Given the description of an element on the screen output the (x, y) to click on. 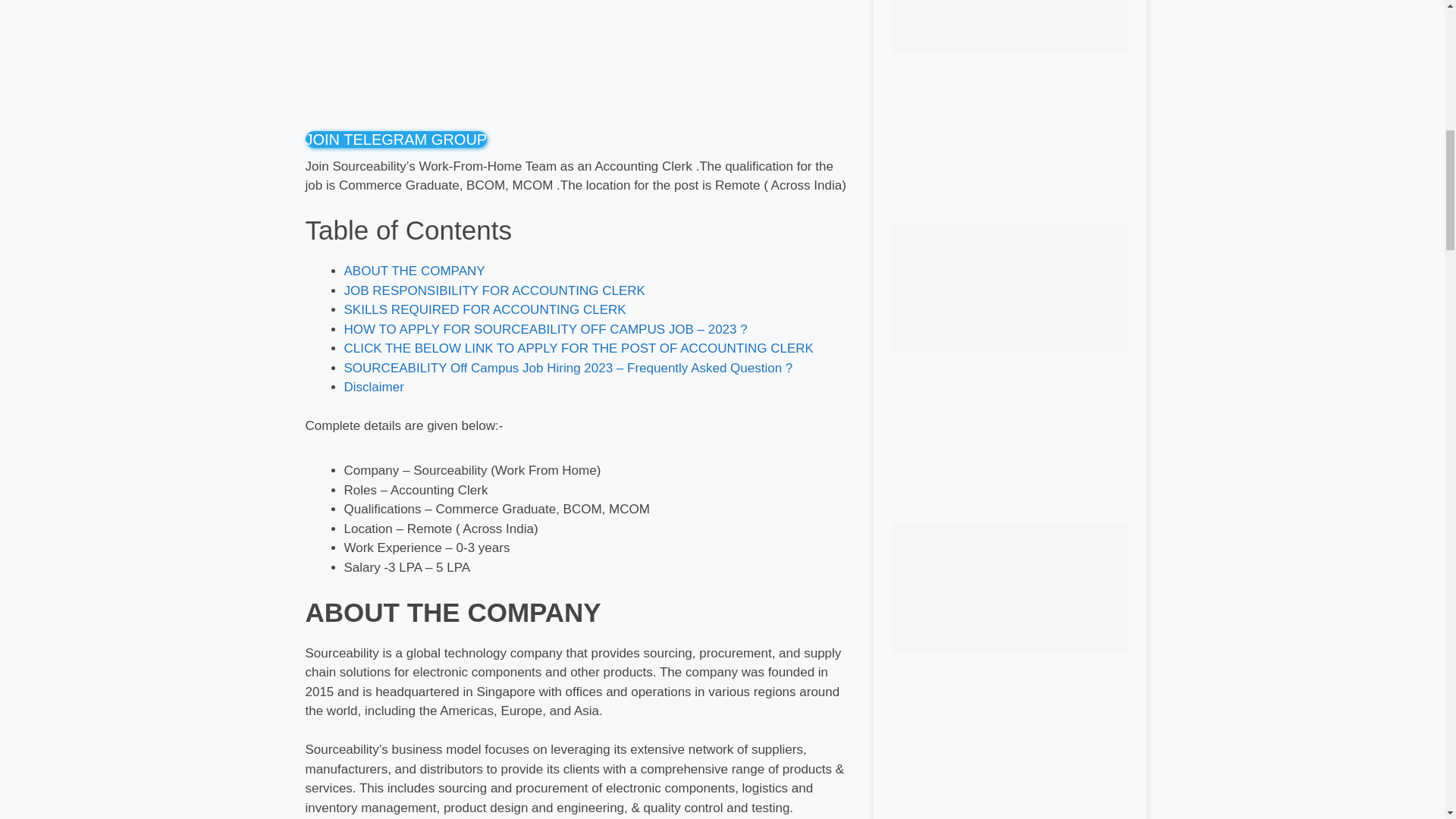
Advertisement (577, 61)
JOB RESPONSIBILITY FOR ACCOUNTING CLERK (494, 290)
SKILLS REQUIRED FOR ACCOUNTING CLERK (484, 309)
Disclaimer (373, 386)
ABOUT THE COMPANY (413, 270)
JOIN TELEGRAM GROUP (395, 139)
